Given the description of an element on the screen output the (x, y) to click on. 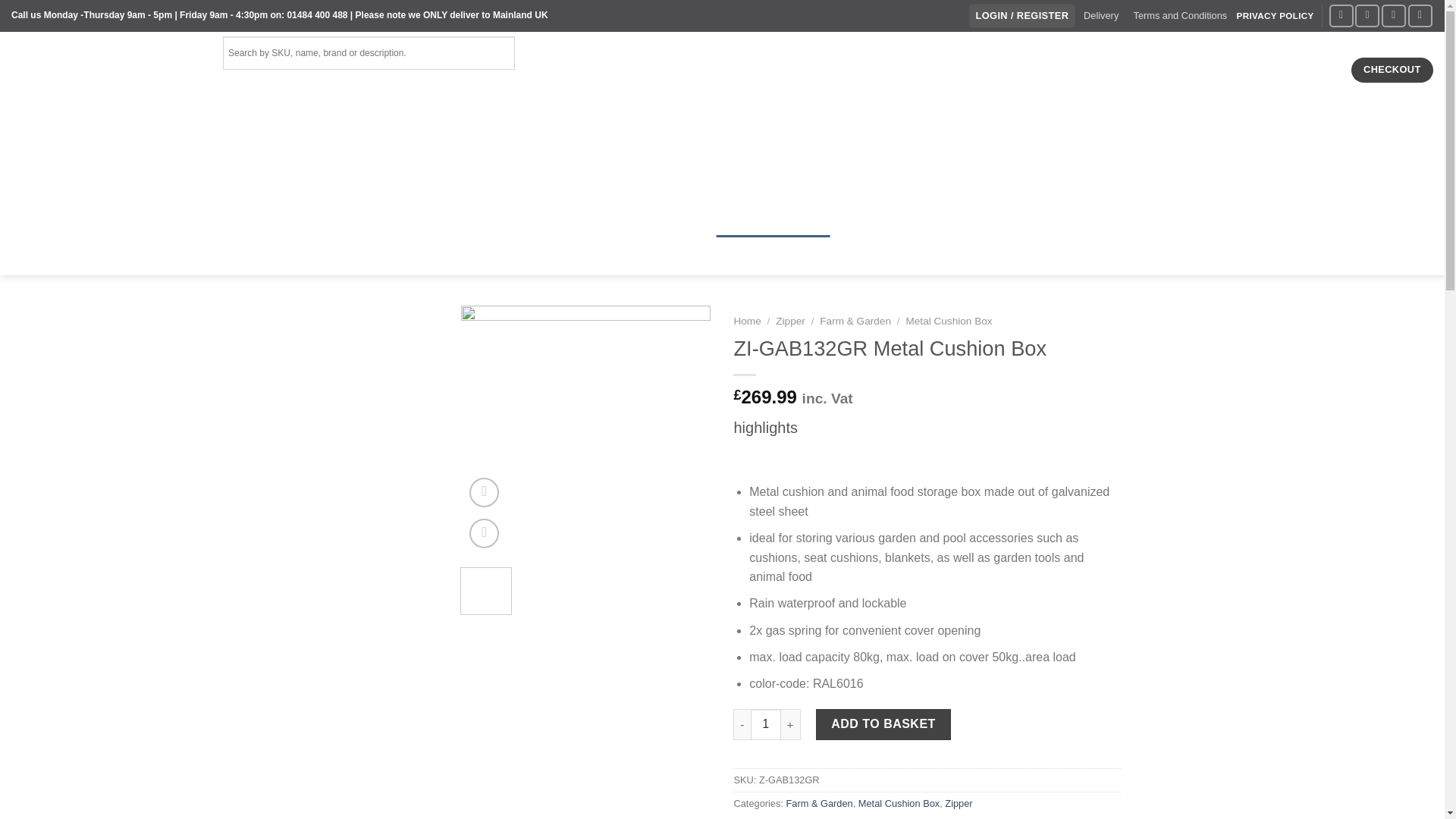
BASKET (1299, 69)
REVIEW US (1082, 52)
CATALOGUES (769, 52)
CHECKOUT (1391, 69)
Video (483, 491)
Delivery (1100, 15)
Terms and Conditions (1179, 15)
WARRANTY (1166, 52)
MAFELL REGISTRATION (373, 86)
RETURNS (259, 86)
